Given the description of an element on the screen output the (x, y) to click on. 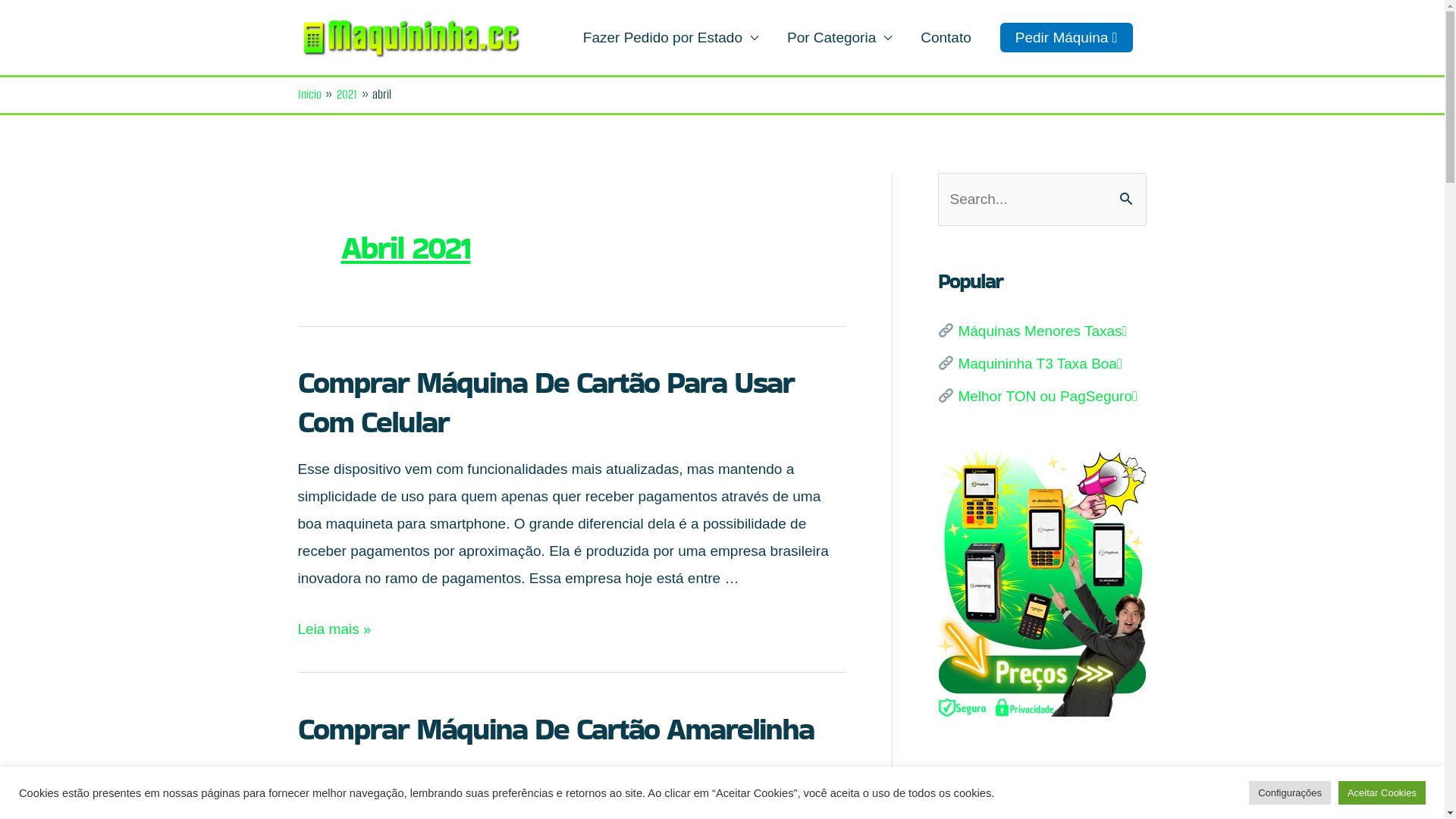
Fazer Pedido por Estado Element type: text (670, 37)
Por Categoria Element type: text (839, 37)
Aceitar Cookies Element type: text (1381, 792)
2021 Element type: text (346, 94)
Pesquisar Element type: text (1128, 189)
Contato Element type: text (945, 37)
